Given the description of an element on the screen output the (x, y) to click on. 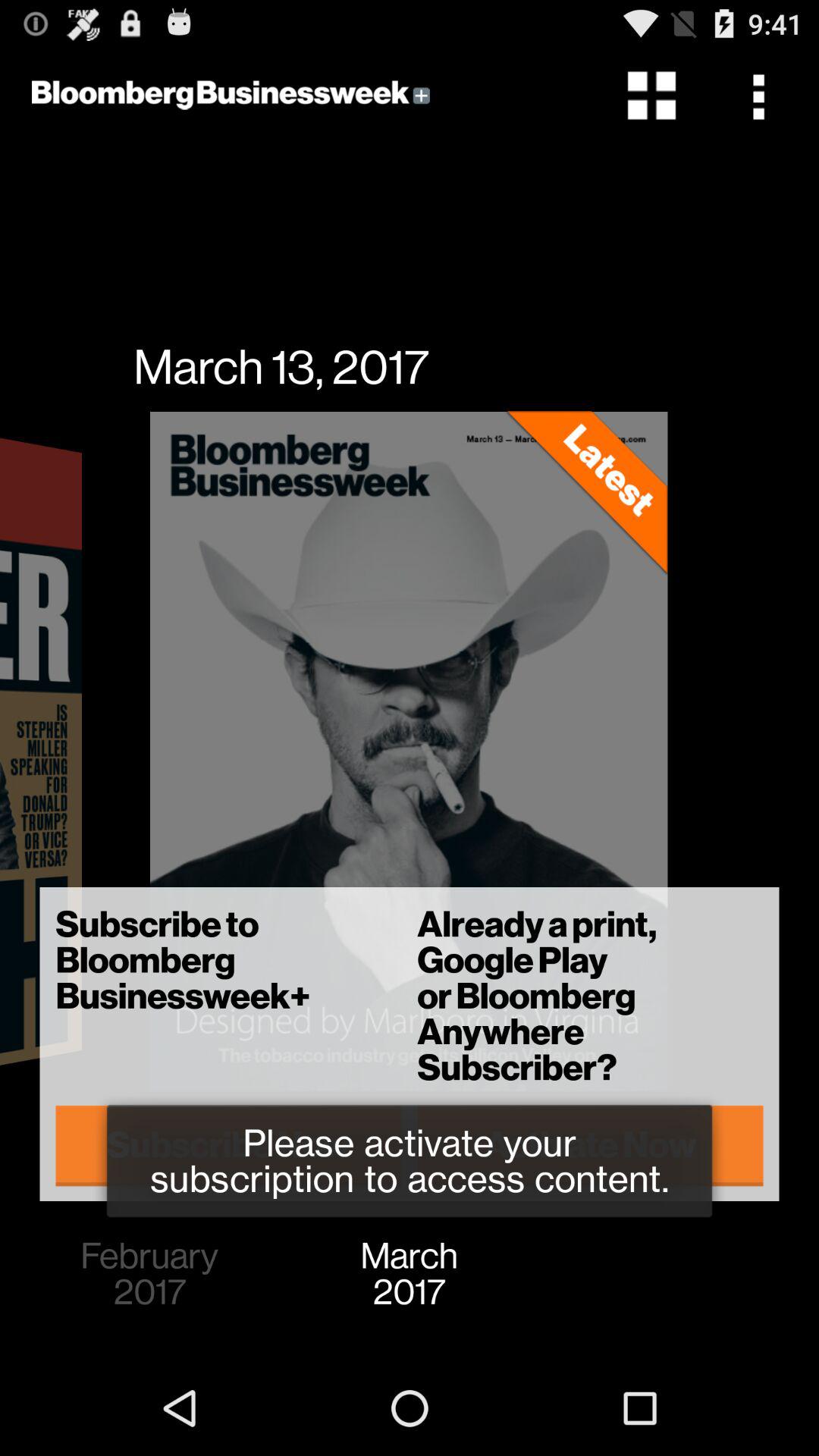
choose the item above march
2017 (590, 1145)
